Given the description of an element on the screen output the (x, y) to click on. 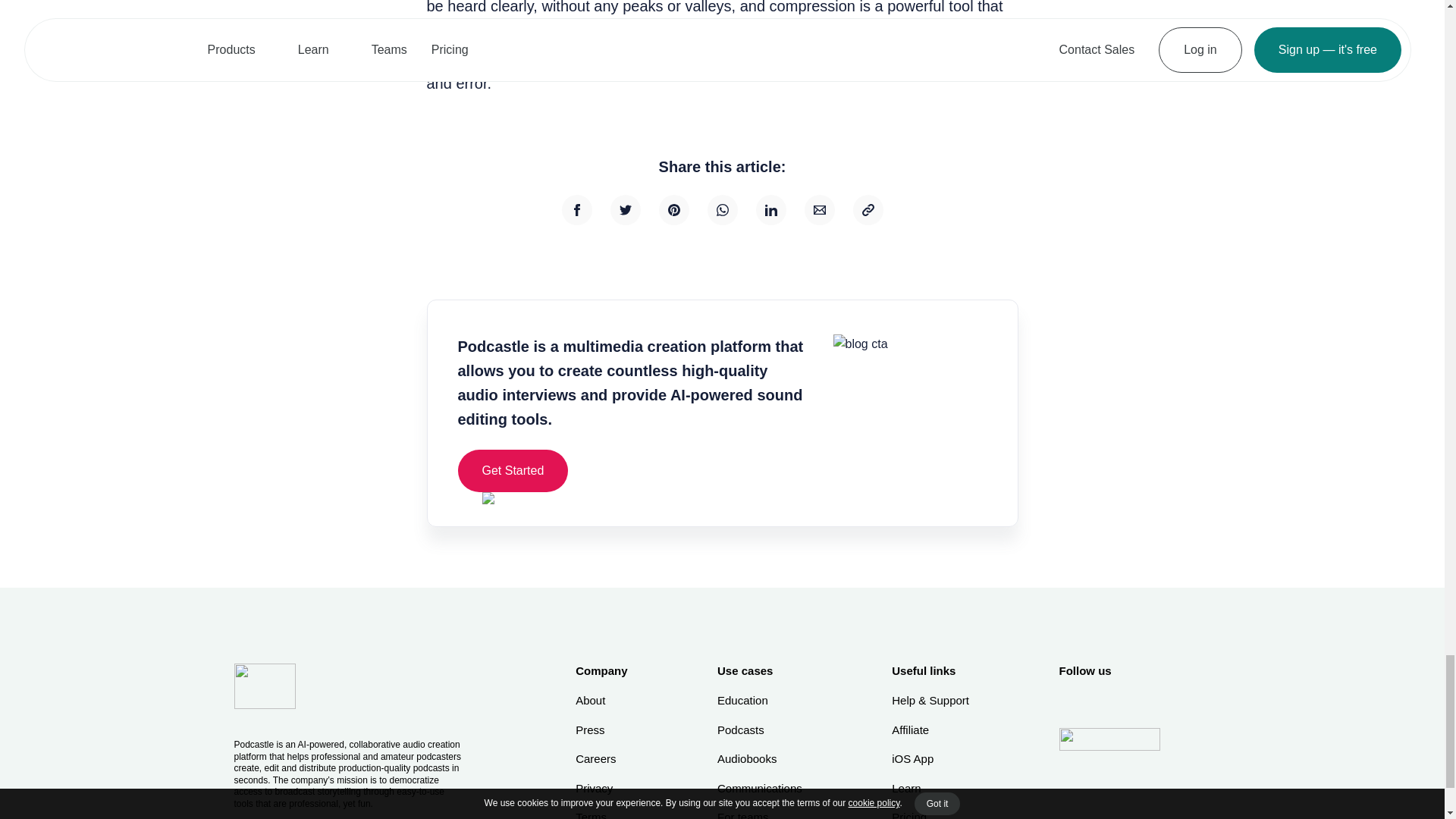
Communications (759, 788)
Privacy (601, 788)
Send via email (818, 209)
Share on Twitter (625, 209)
Learn (930, 788)
Audiobooks (759, 758)
Share on Pinterest (673, 209)
Share on Facebook (575, 209)
About (601, 700)
Get Started (513, 470)
Careers (601, 758)
Copy the permalink (866, 209)
iOS App (930, 758)
Share on Whatsapp (721, 209)
Podcasts (759, 730)
